Given the description of an element on the screen output the (x, y) to click on. 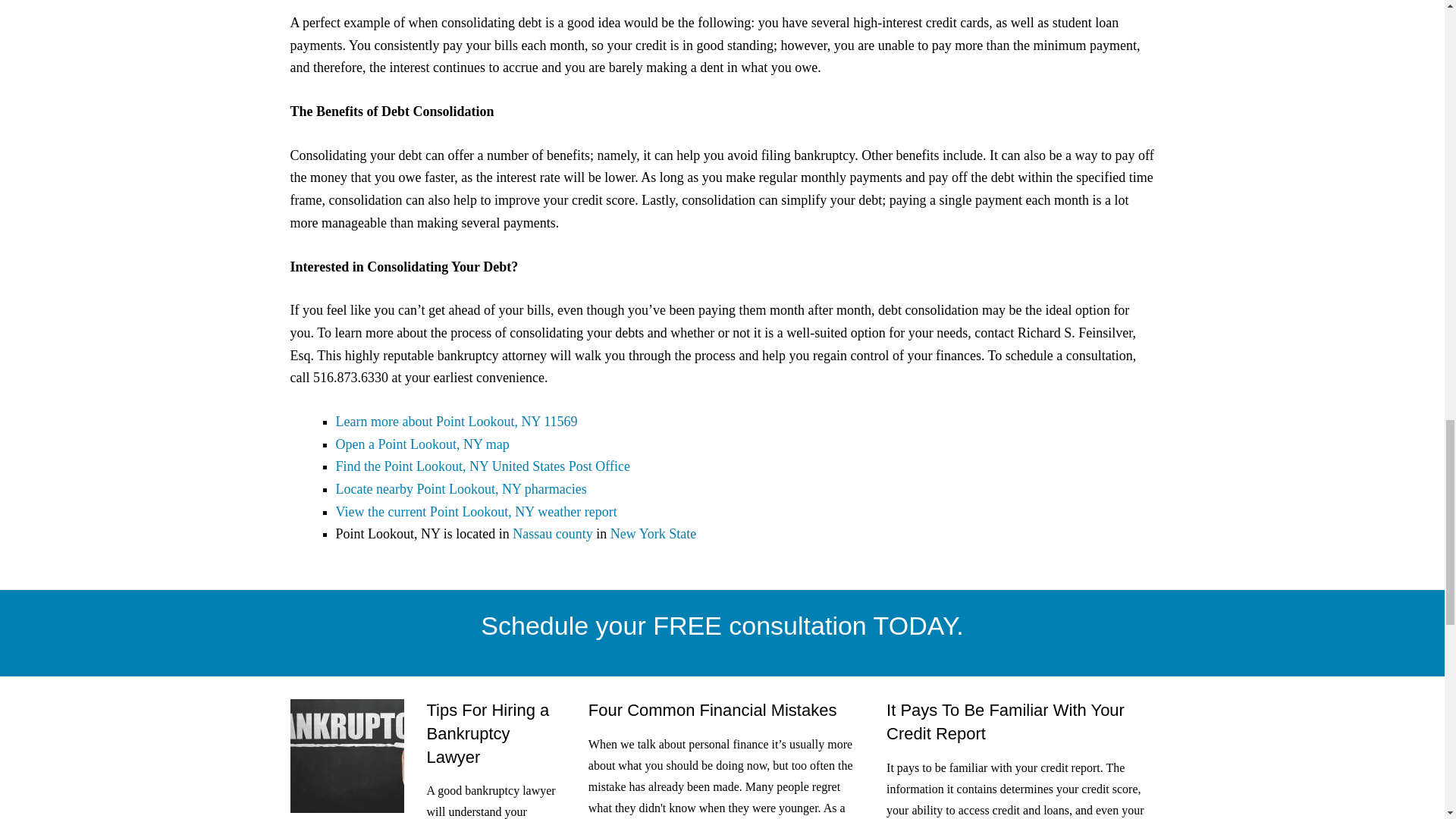
Four Common Financial Mistakes (712, 710)
Tips For Hiring a Bankruptcy Lawyer (487, 733)
Locate nearby Point Lookout, NY pharmacies (460, 488)
New York State (653, 533)
Find the Point Lookout, NY United States Post Office (482, 466)
Nassau county (552, 533)
Learn more about Point Lookout, NY 11569 (455, 421)
View the current Point Lookout, NY weather report (474, 511)
It Pays To Be Familiar With Your Credit Report (1005, 721)
Open a Point Lookout, NY map (421, 444)
